Given the description of an element on the screen output the (x, y) to click on. 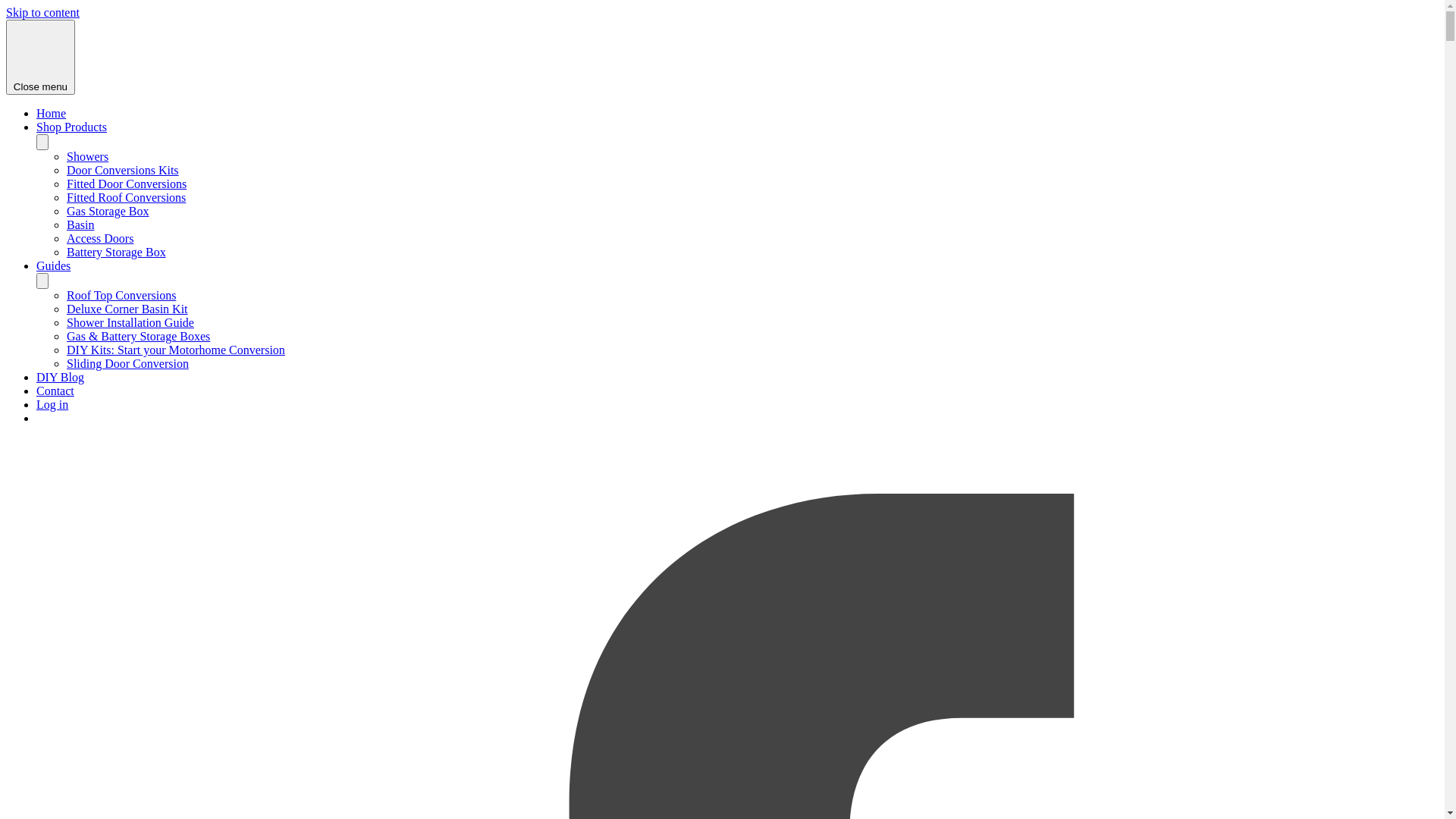
Fitted Roof Conversions Element type: text (125, 197)
Guides Element type: text (53, 265)
DIY Blog Element type: text (60, 376)
Basin Element type: text (80, 224)
Shop Products Element type: text (71, 126)
Shower Installation Guide Element type: text (130, 322)
Deluxe Corner Basin Kit Element type: text (127, 308)
Gas & Battery Storage Boxes Element type: text (138, 335)
Home Element type: text (50, 112)
Battery Storage Box Element type: text (116, 251)
Close menu Element type: text (40, 56)
Showers Element type: text (87, 156)
DIY Kits: Start your Motorhome Conversion Element type: text (175, 349)
Access Doors Element type: text (99, 238)
Fitted Door Conversions Element type: text (126, 183)
Roof Top Conversions Element type: text (120, 294)
Contact Element type: text (55, 390)
Door Conversions Kits Element type: text (122, 169)
Gas Storage Box Element type: text (107, 210)
Sliding Door Conversion Element type: text (127, 363)
Log in Element type: text (52, 404)
Skip to content Element type: text (42, 12)
